Given the description of an element on the screen output the (x, y) to click on. 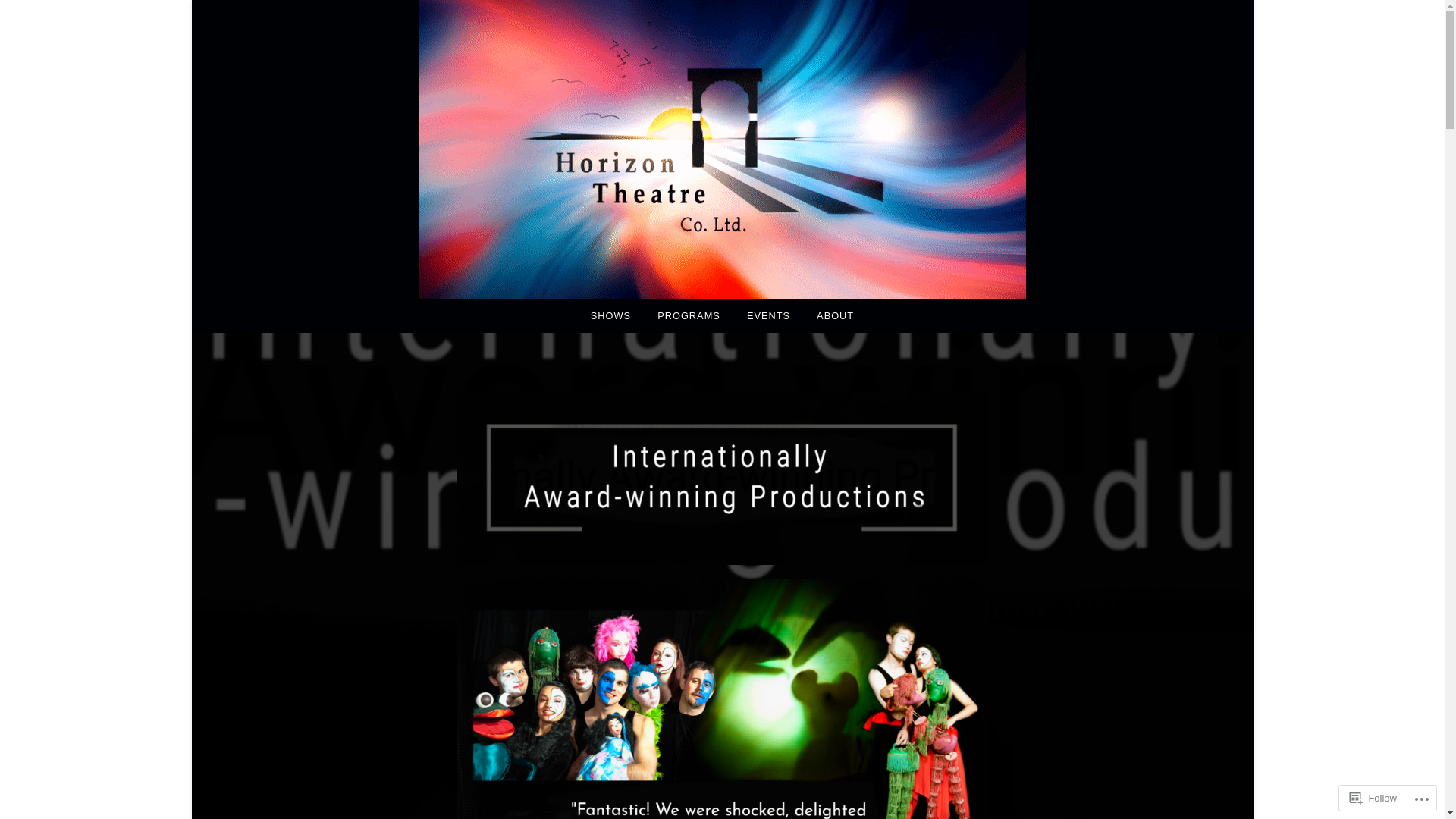
ABOUT Element type: text (835, 315)
PROGRAMS Element type: text (688, 315)
Search Element type: text (62, 18)
SHOWS Element type: text (610, 315)
EVENTS Element type: text (768, 315)
Follow Element type: text (1372, 797)
